Given the description of an element on the screen output the (x, y) to click on. 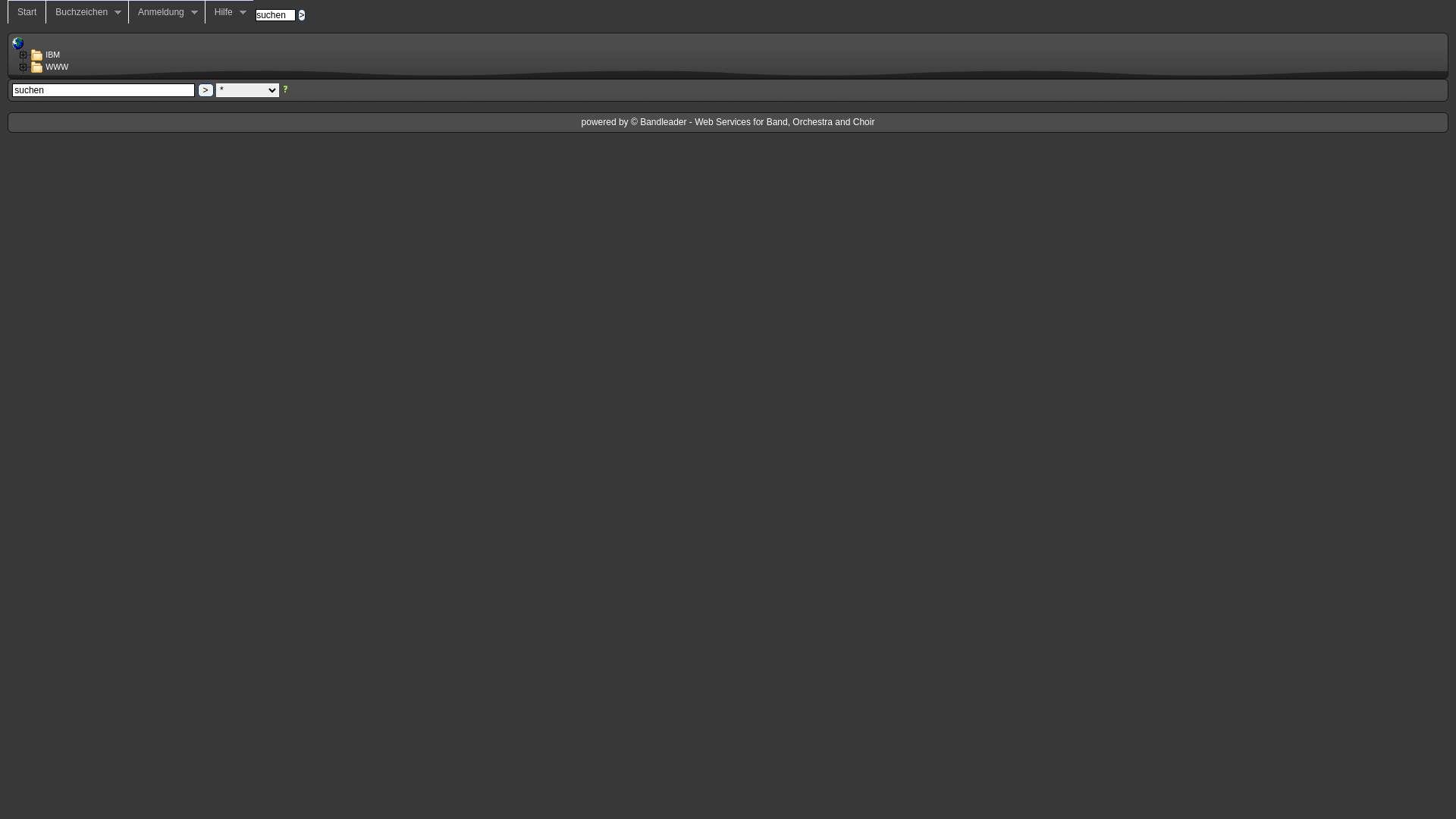
 WWW Element type: text (42, 66)
http://www.zueger-kohlbrenner.ch Element type: hover (18, 43)
suchen Element type: hover (301, 15)
> Element type: text (205, 90)
  Element type: text (19, 42)
Start Element type: text (26, 11)
> Element type: text (301, 15)
Bandleader - Web Services for Band, Orchestra and Choir Element type: text (757, 121)
 IBM Element type: text (37, 54)
suchen ... Element type: hover (205, 90)
